Given the description of an element on the screen output the (x, y) to click on. 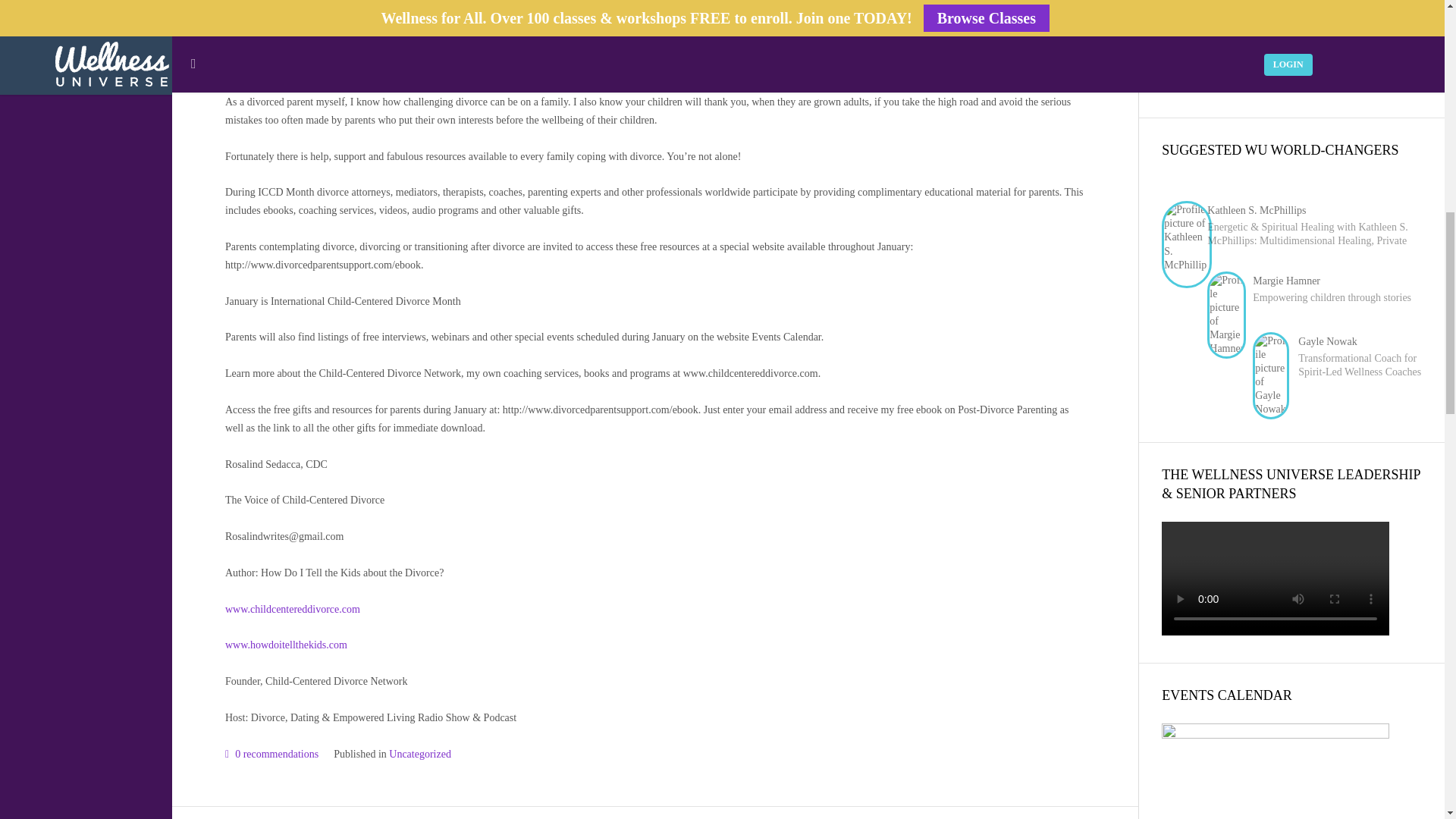
Recommend this article (271, 754)
View profile for Margie Hamner (1286, 280)
View profile for Kathleen S. McPhillips (1256, 210)
